Given the description of an element on the screen output the (x, y) to click on. 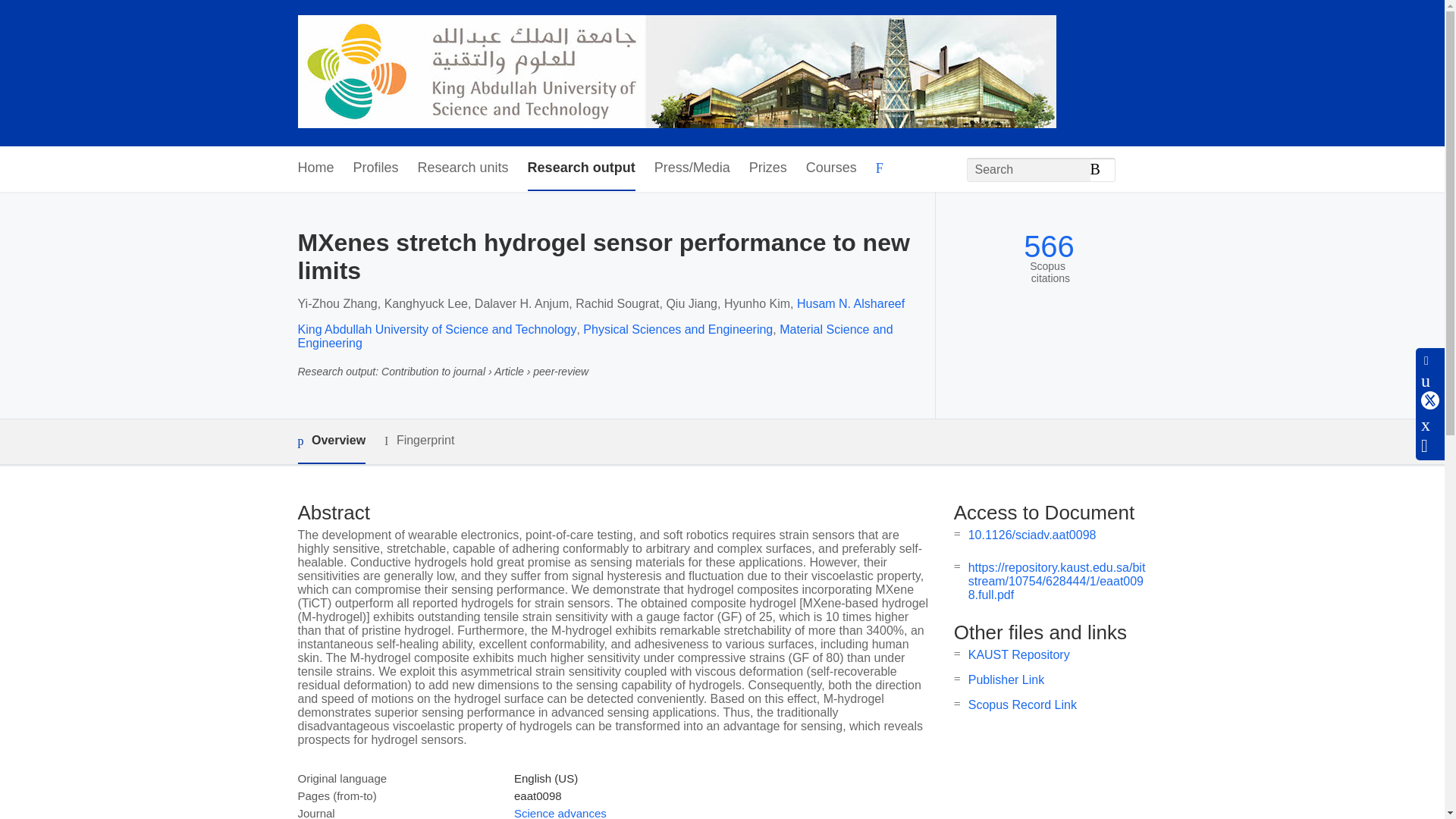
Publisher Link (1006, 679)
Science advances (560, 812)
566 (1048, 246)
Research output (580, 168)
King Abdullah University of Science and Technology (436, 328)
Fingerprint (419, 440)
Profiles (375, 168)
KAUST FACULTY PORTAL Home (676, 73)
Research units (462, 168)
